Given the description of an element on the screen output the (x, y) to click on. 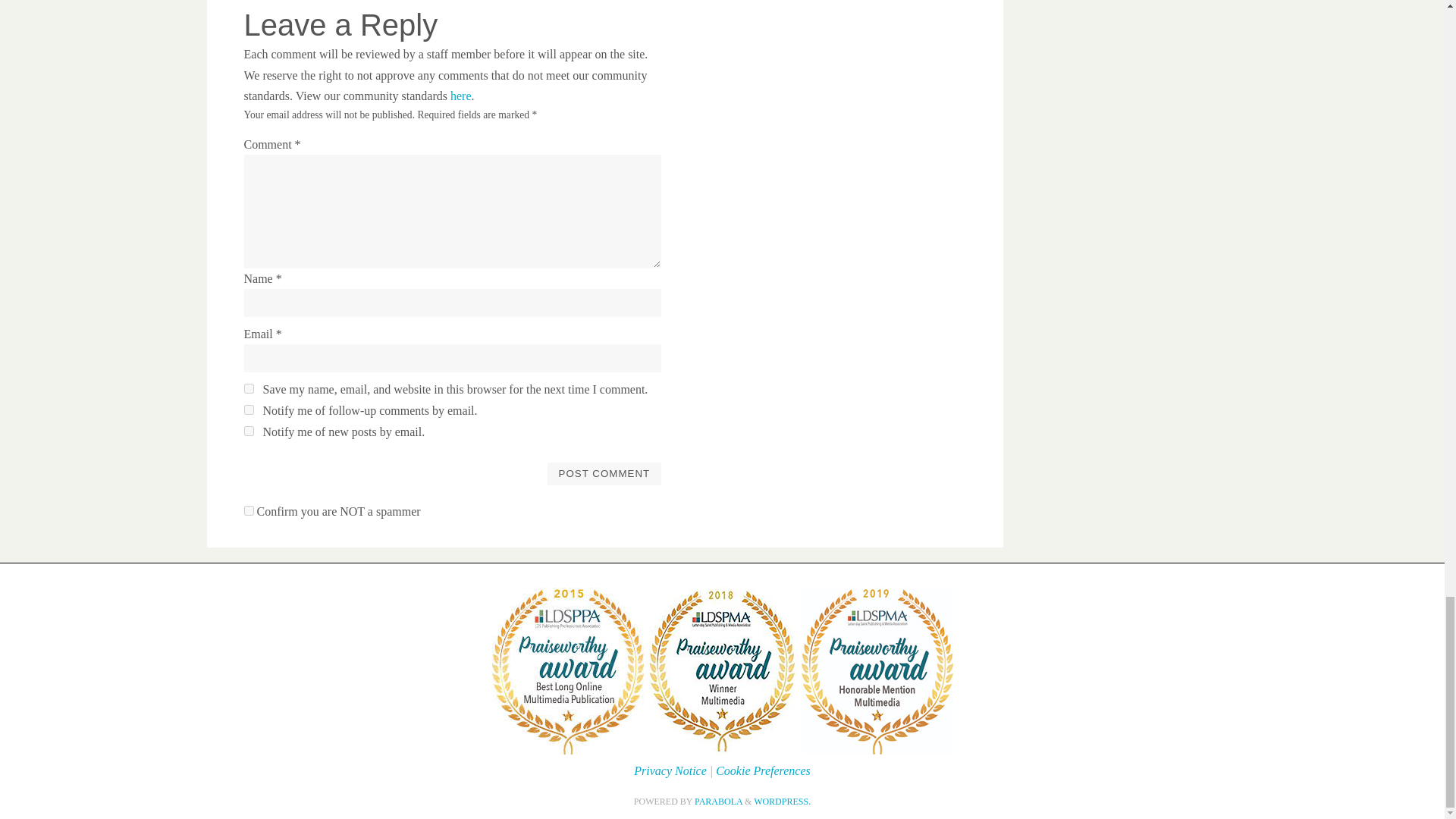
subscribe (248, 430)
subscribe (248, 409)
on (248, 510)
yes (248, 388)
Post Comment (604, 473)
